Given the description of an element on the screen output the (x, y) to click on. 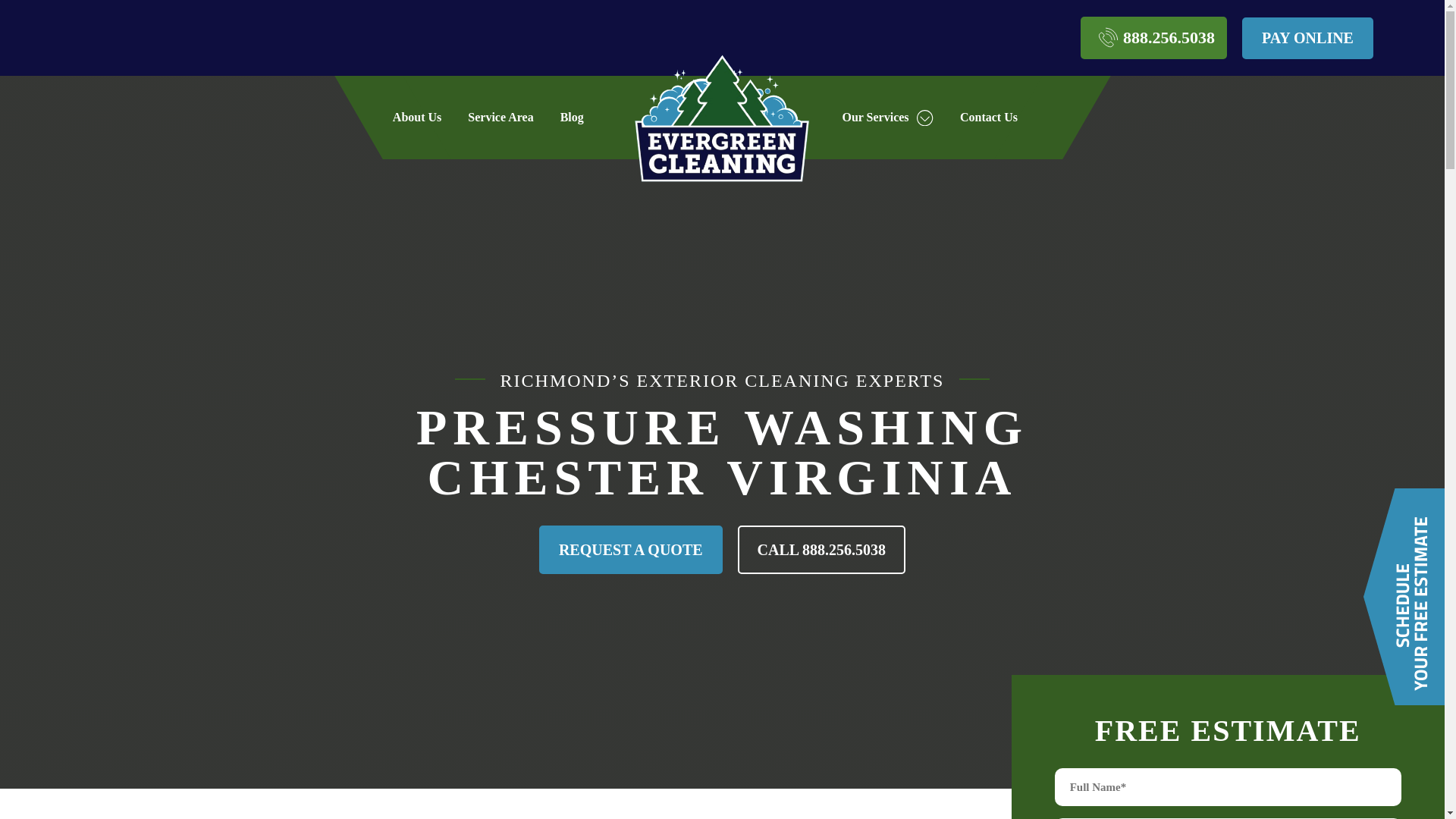
Pay Online (1307, 37)
About Us (417, 117)
888.256.5038 (1153, 37)
Blog (571, 117)
Contact Us (988, 117)
Pay Online (1307, 37)
Service Area (499, 117)
Our Services (887, 117)
